Given the description of an element on the screen output the (x, y) to click on. 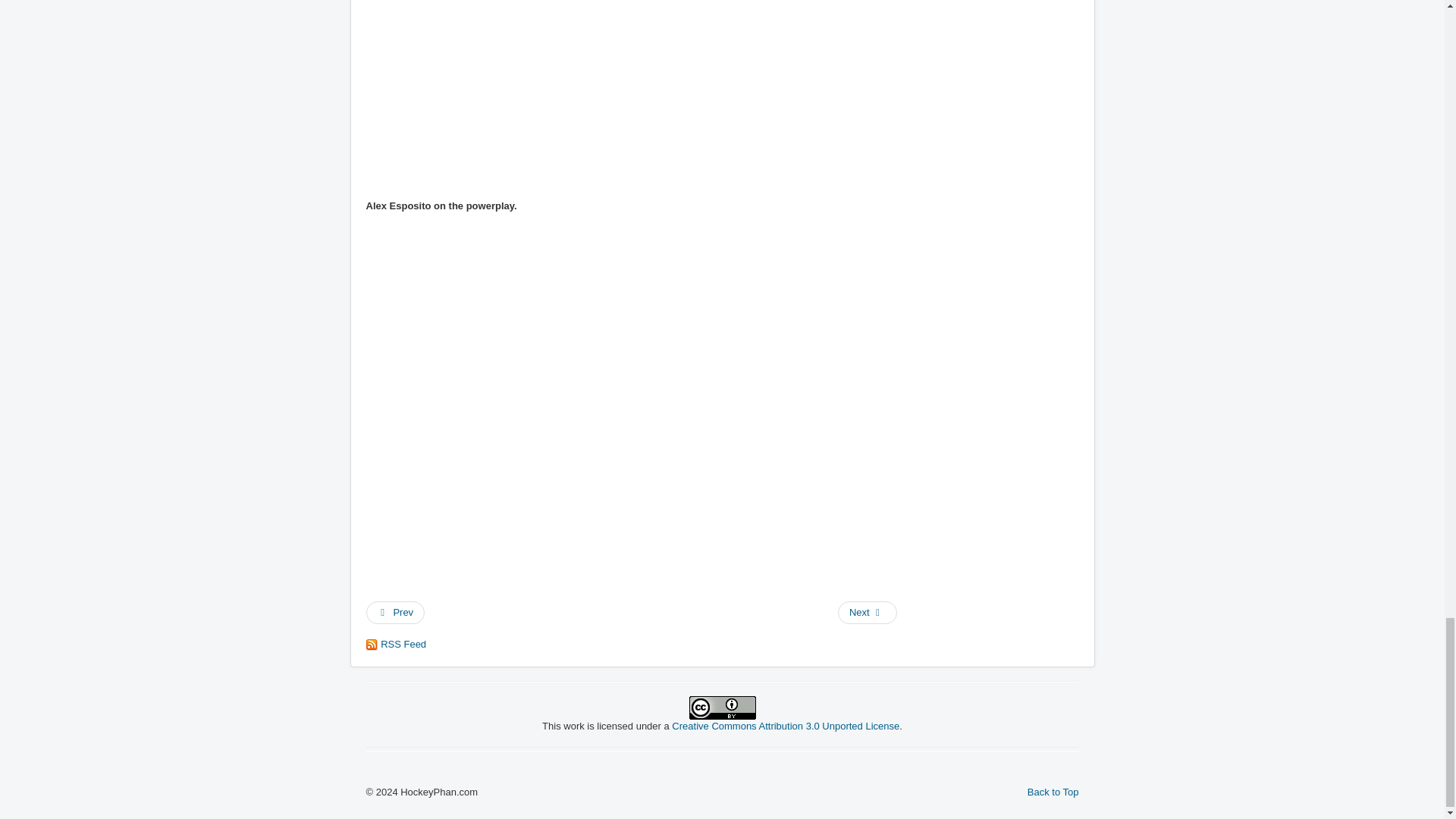
Back to Top (1052, 791)
Next (867, 612)
RSS Feed (395, 644)
Creative Commons Attribution 3.0 Unported License (785, 726)
Prev (395, 612)
